Given the description of an element on the screen output the (x, y) to click on. 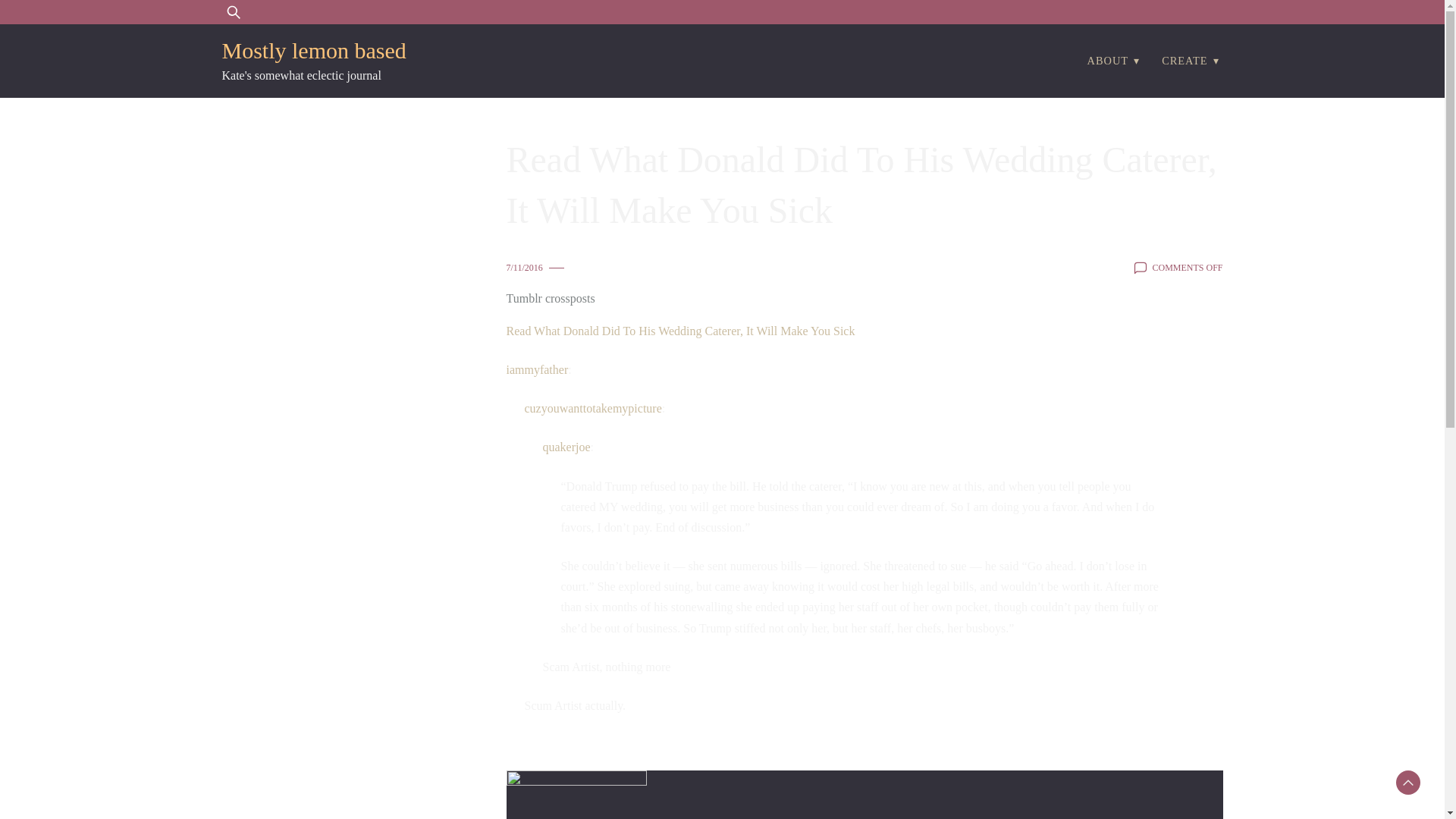
Mostly lemon based (313, 50)
ABOUT (1107, 60)
Search (56, 21)
CREATE (1185, 60)
Tumblr crossposts (550, 298)
quakerjoe (567, 446)
cuzyouwanttotakemypicture (593, 408)
iammyfather (537, 369)
